Given the description of an element on the screen output the (x, y) to click on. 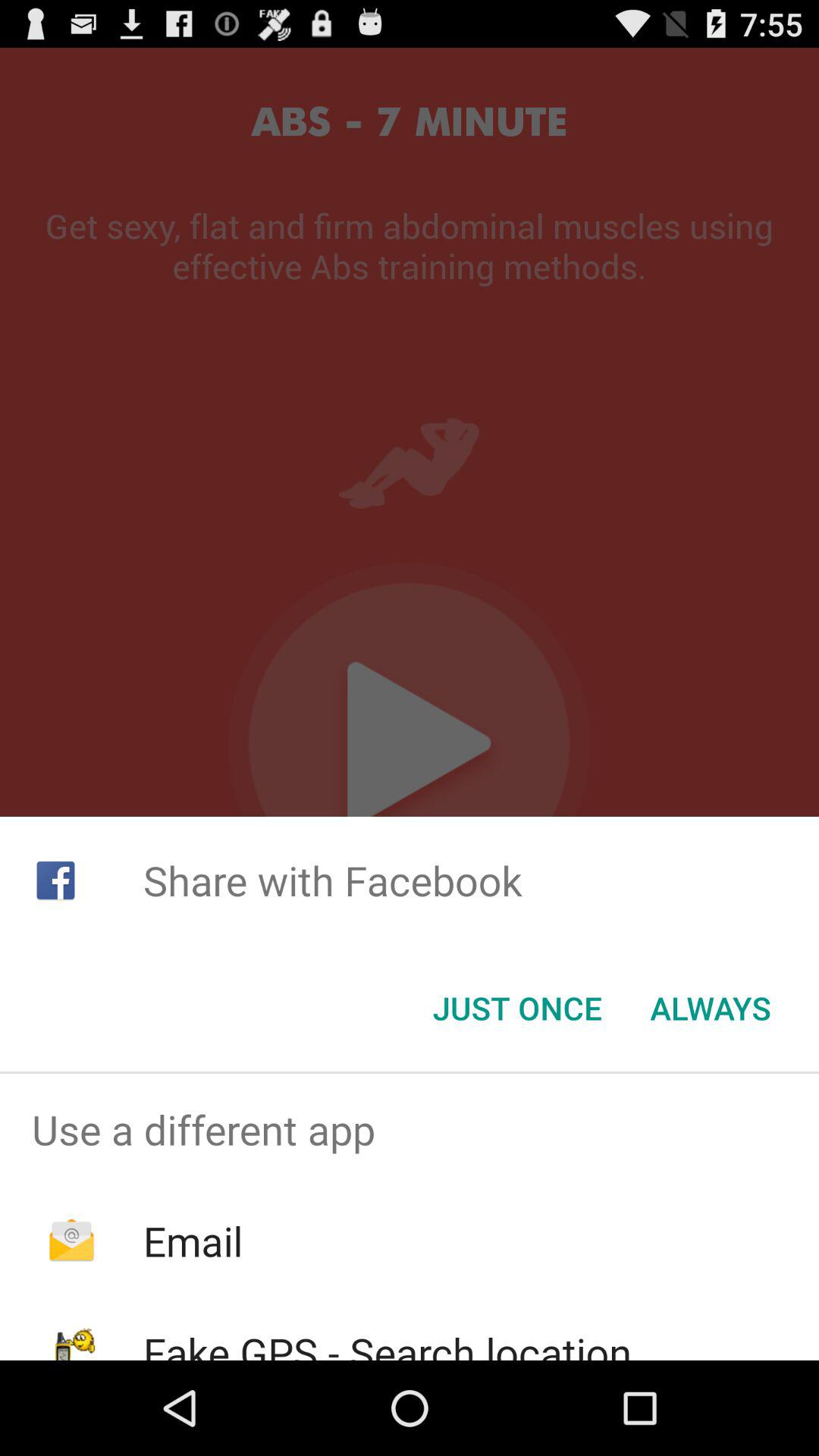
turn off button next to always (517, 1007)
